Given the description of an element on the screen output the (x, y) to click on. 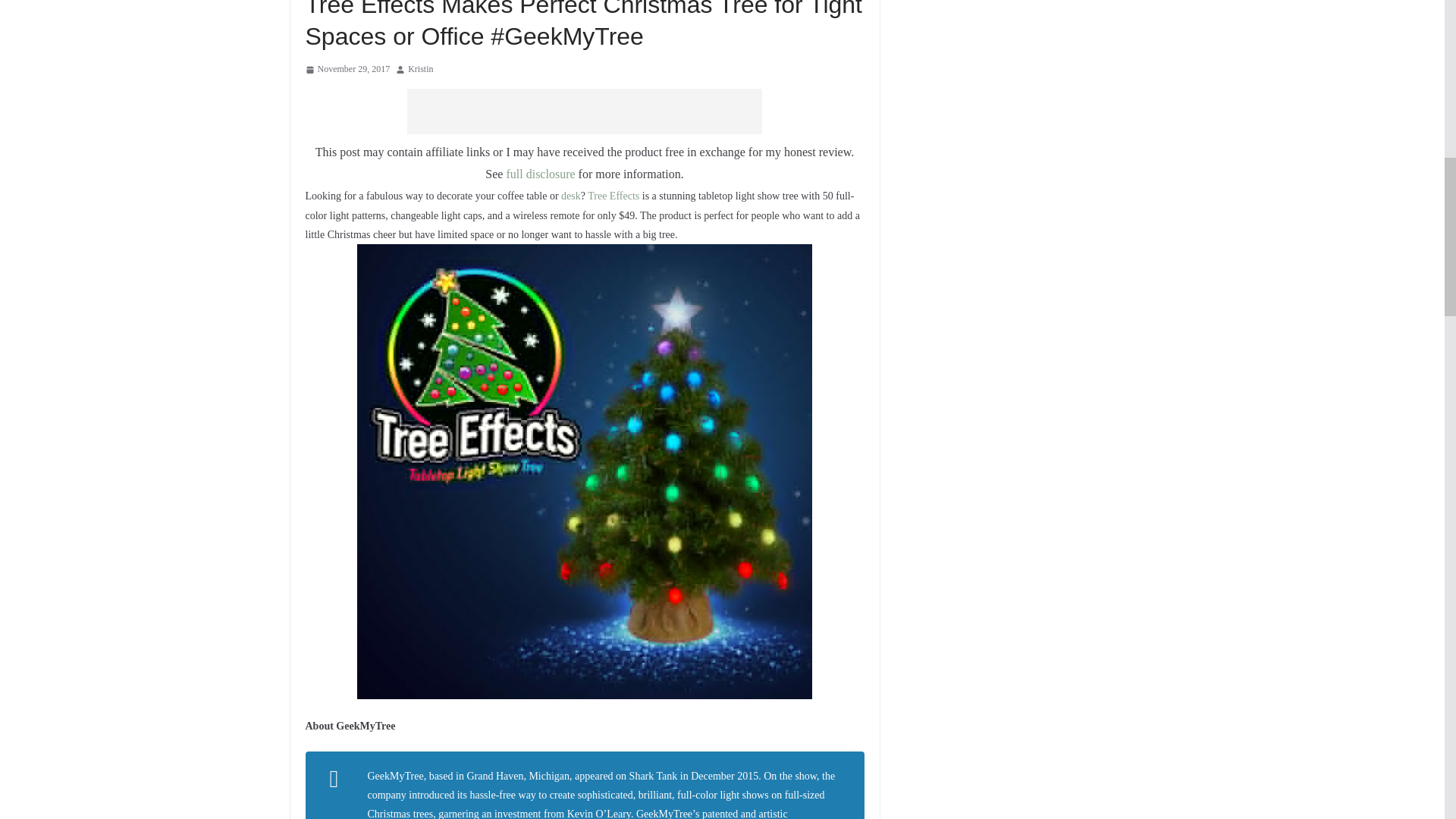
Kristin (419, 69)
3:43 pm (347, 69)
full disclosure (540, 173)
desk (570, 195)
Tree Effects (613, 195)
November 29, 2017 (347, 69)
Kristin (419, 69)
